Given the description of an element on the screen output the (x, y) to click on. 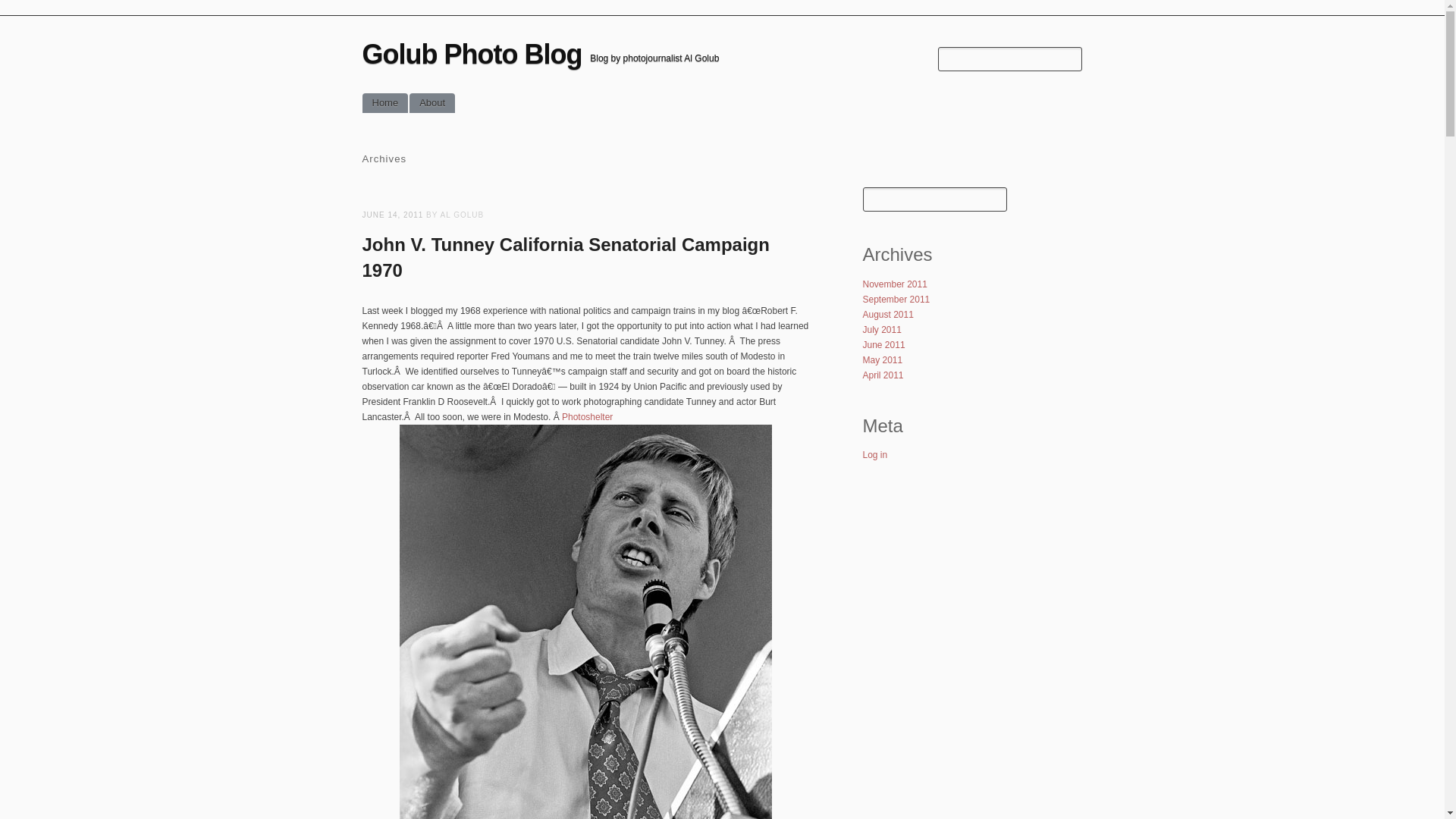
Golub Photo Blog (472, 53)
Golub Photo Blog (472, 53)
John V. Tunney California Senatorial Campaign 1970 (566, 257)
JUNE 14, 2011 (392, 214)
10:41 AM (392, 214)
Photoshelter (587, 416)
About (431, 103)
Search (20, 9)
Home (385, 103)
